Given the description of an element on the screen output the (x, y) to click on. 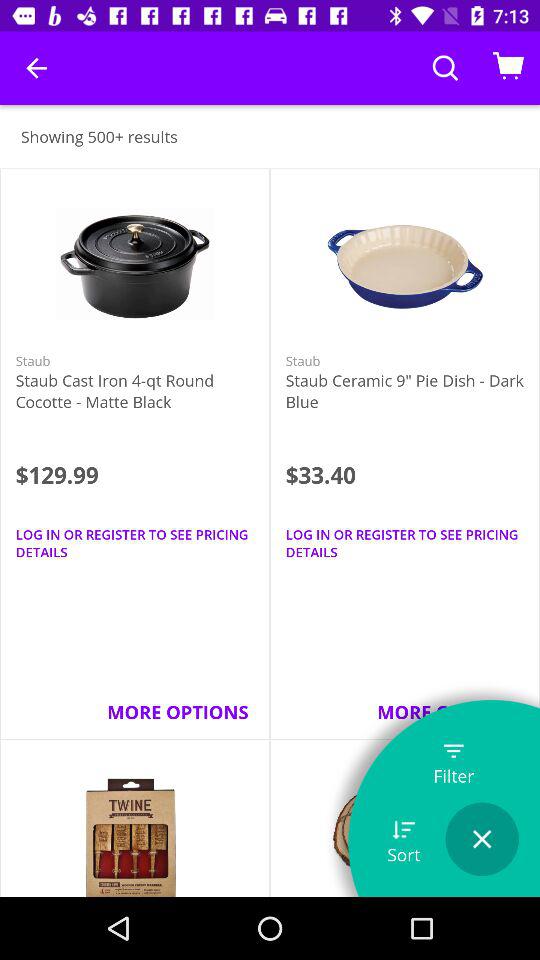
launch icon above showing 500+ results (36, 68)
